Given the description of an element on the screen output the (x, y) to click on. 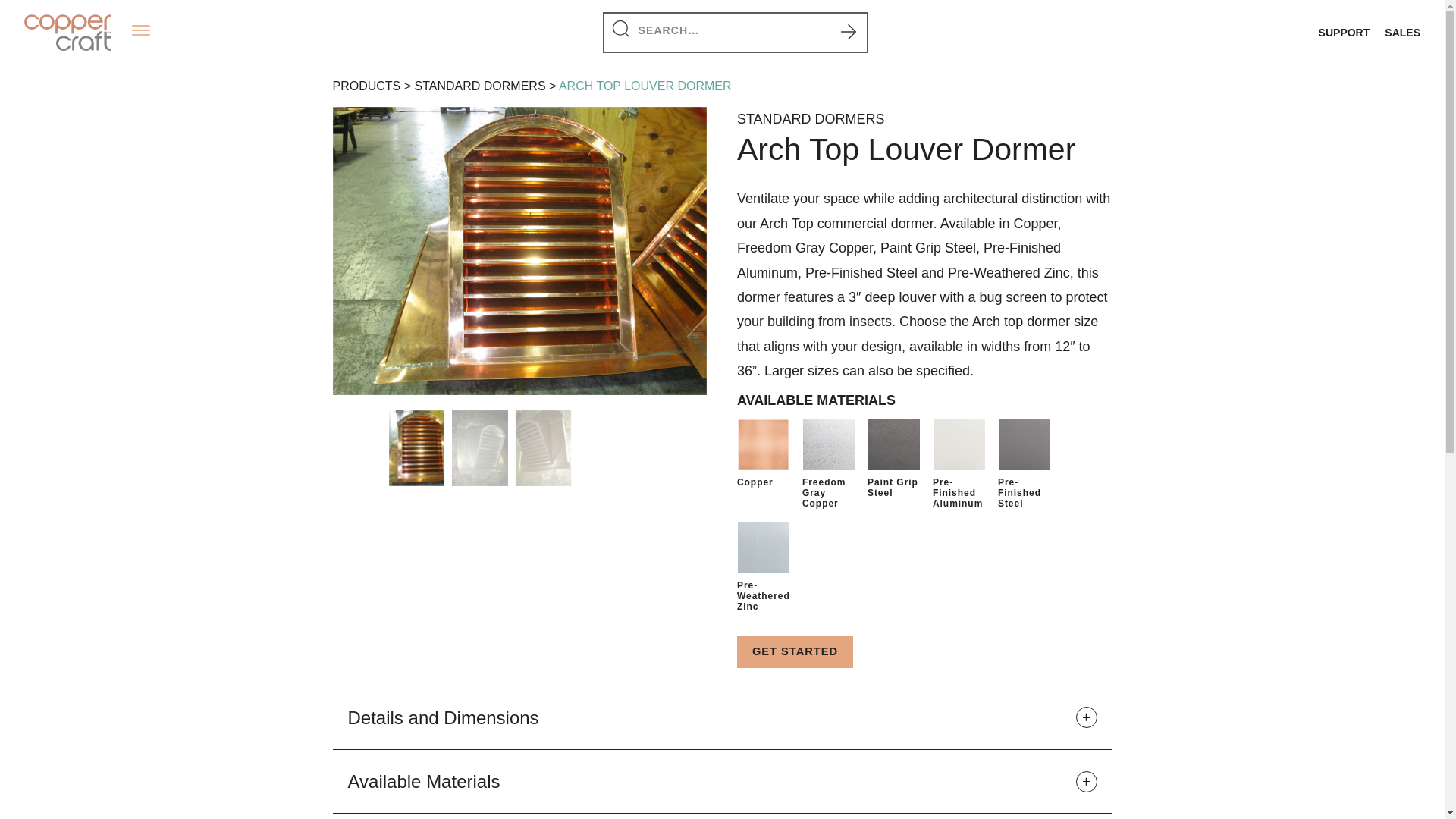
Paint Grip Steel (893, 443)
Pre-Finished Steel (1024, 443)
Pre-Finished Aluminum (959, 443)
Freedom Gray Copper (829, 443)
SALES (1402, 32)
Copper (763, 443)
SUPPORT (1344, 32)
Pre-Weathered Zinc (763, 547)
